Given the description of an element on the screen output the (x, y) to click on. 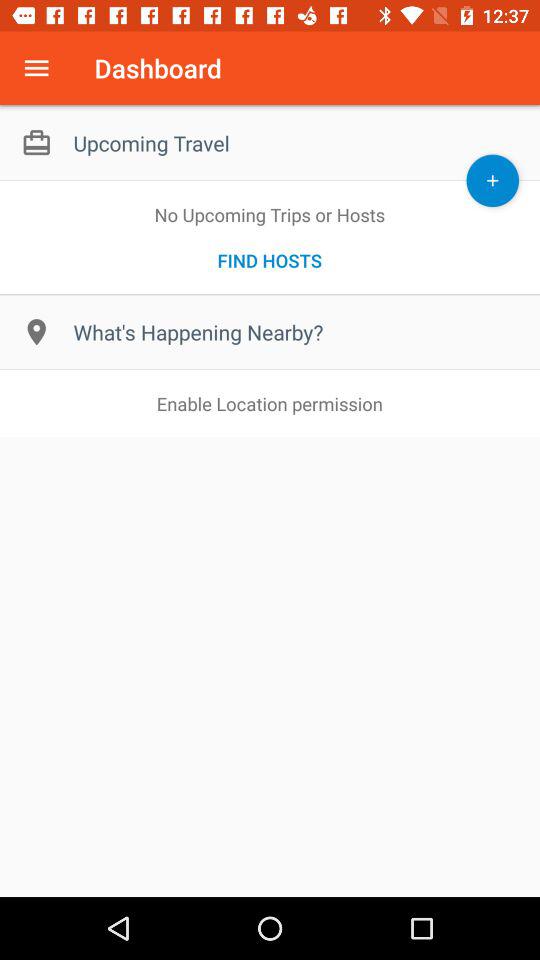
go to app menu (36, 68)
